Given the description of an element on the screen output the (x, y) to click on. 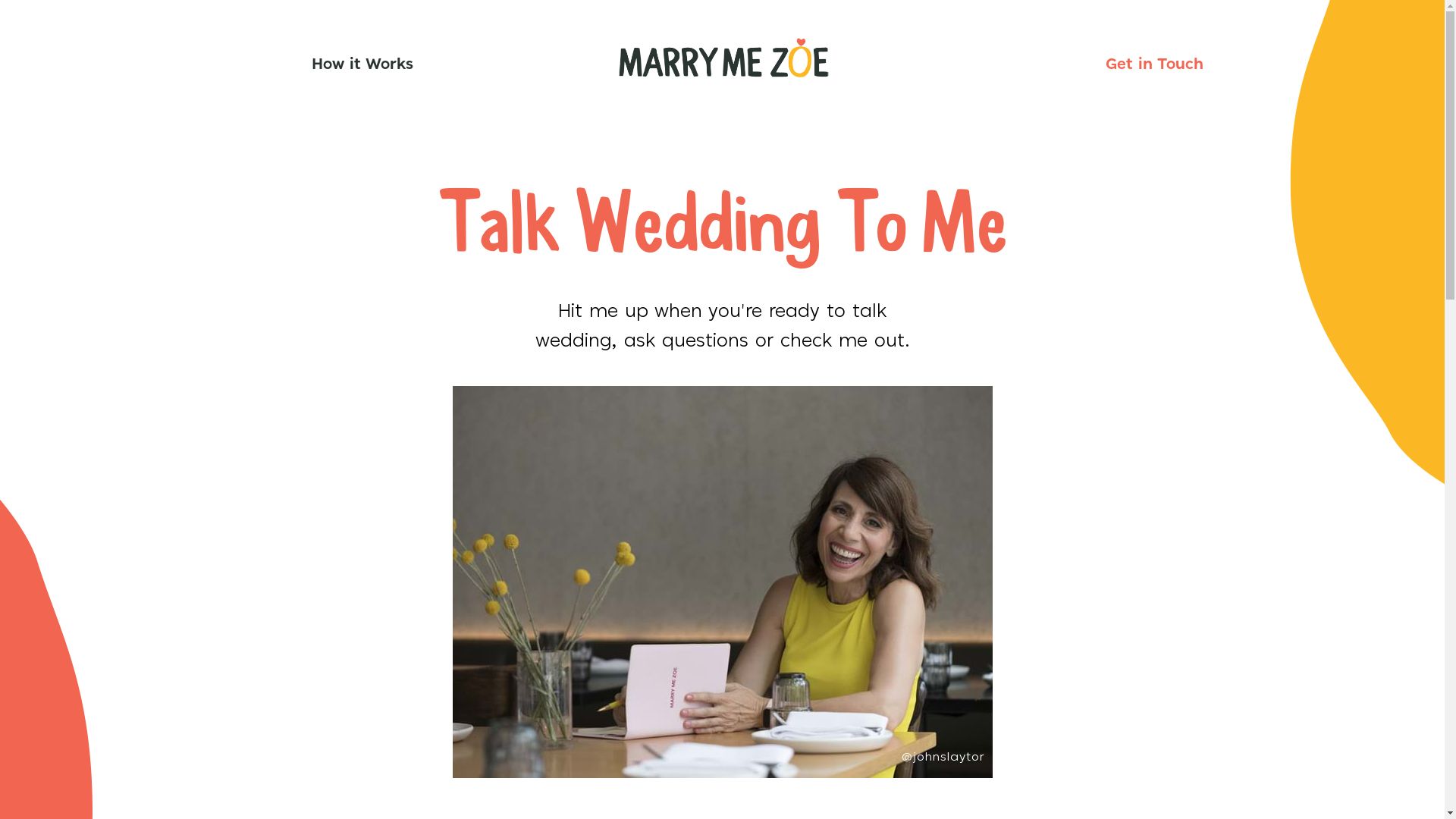
Get in Touch Element type: text (1154, 64)
@johnslaytor Element type: text (721, 581)
